Given the description of an element on the screen output the (x, y) to click on. 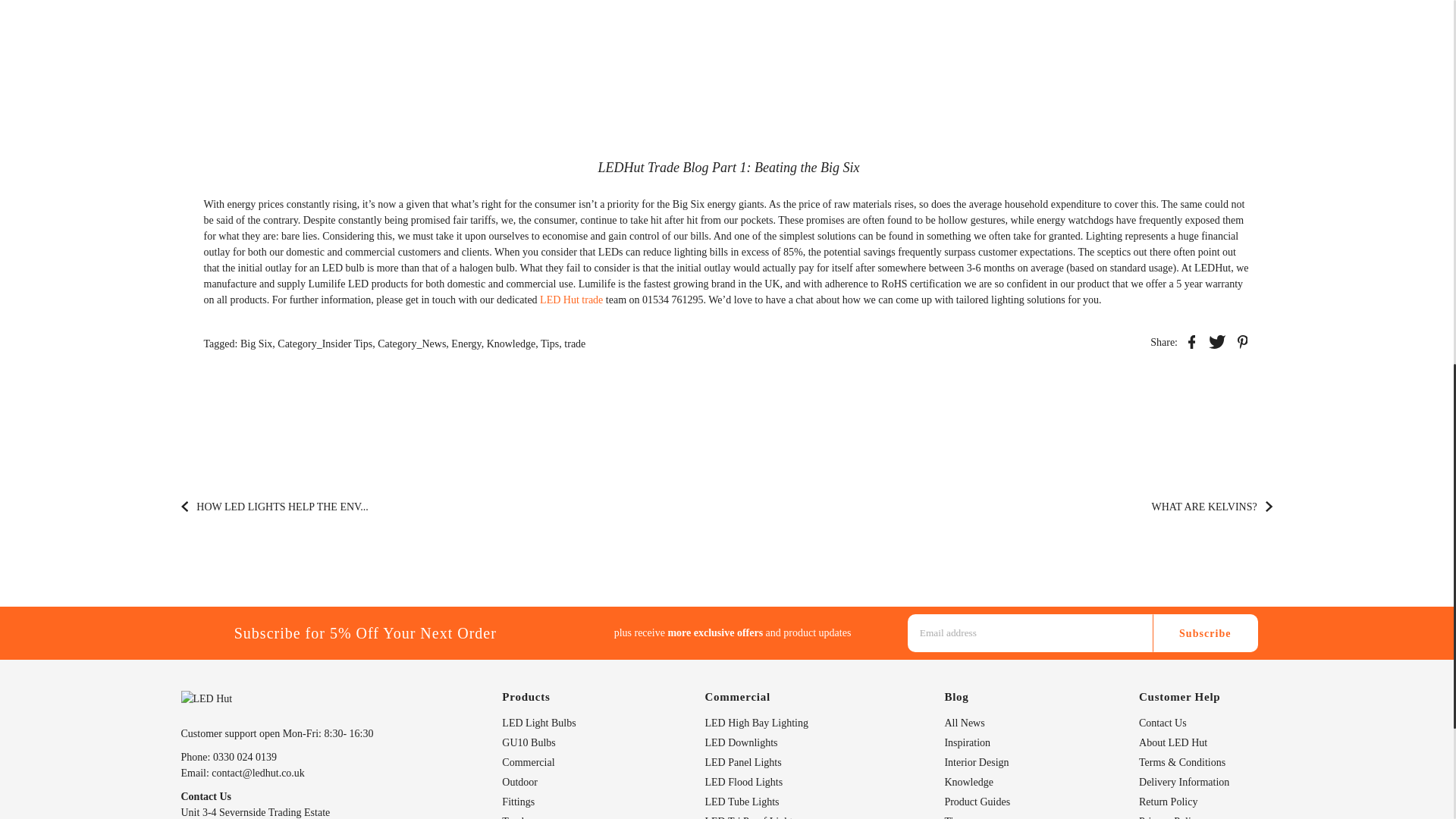
LED Hut Trade (571, 299)
Share on Pinterest (1242, 341)
Share on Twitter (1216, 341)
Share on Facebook (1190, 341)
